Given the description of an element on the screen output the (x, y) to click on. 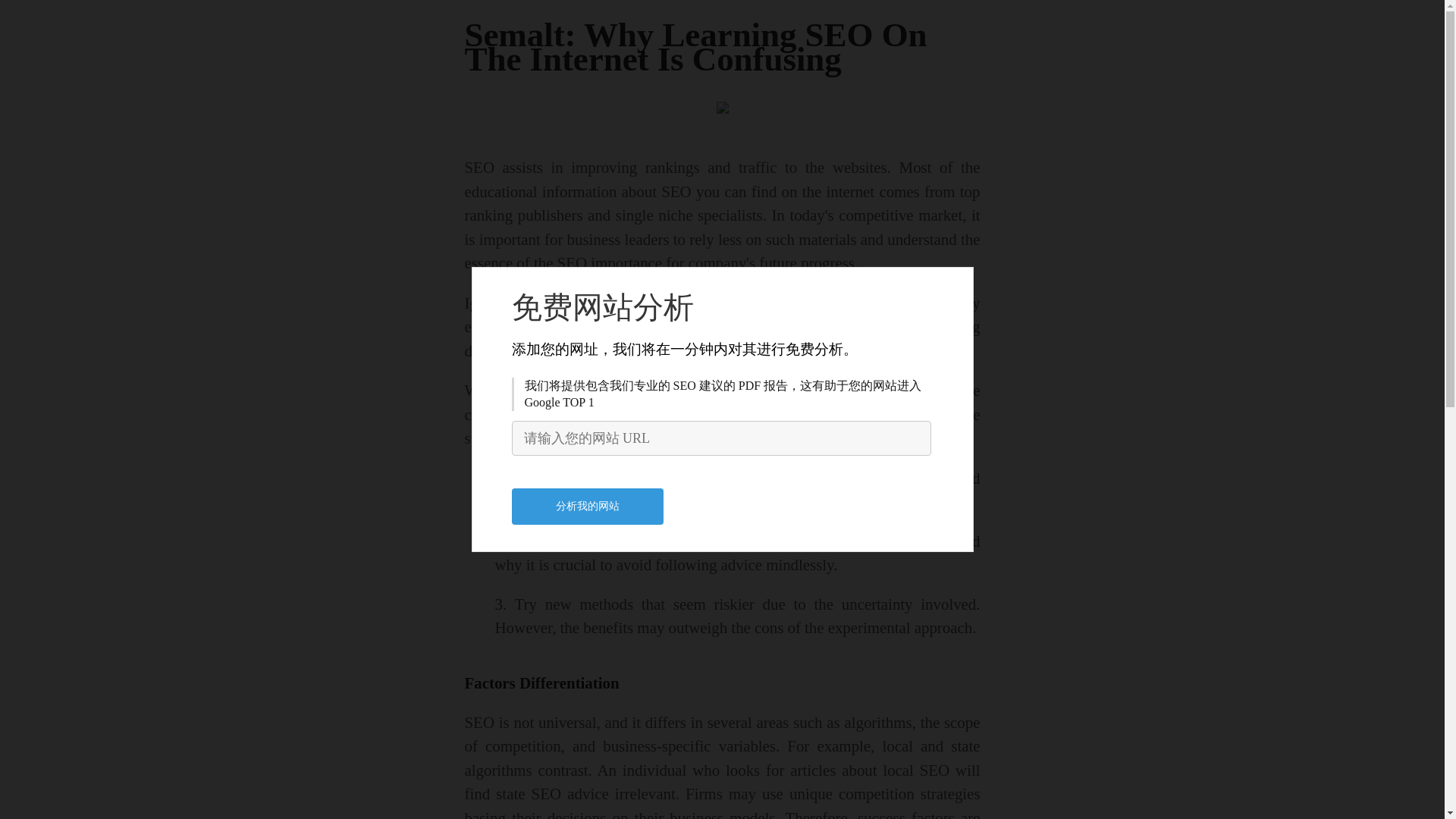
Semalt (855, 303)
